Given the description of an element on the screen output the (x, y) to click on. 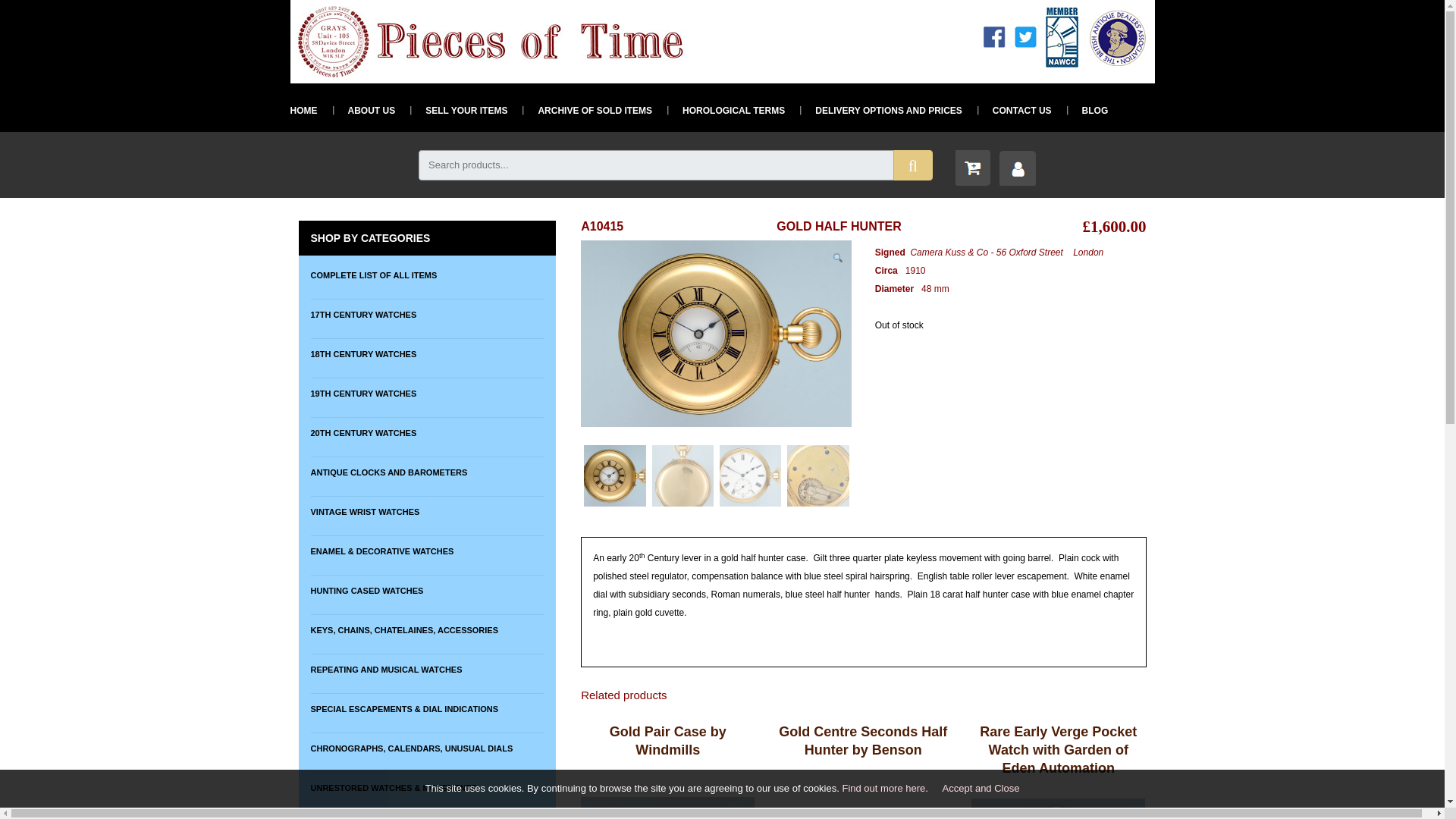
ABOUT US (362, 110)
17TH CENTURY WATCHES (427, 314)
BLOG (1087, 110)
COMPLETE LIST OF ALL ITEMS (427, 275)
19TH CENTURY WATCHES (427, 392)
20TH CENTURY WATCHES (427, 431)
w10820a (715, 333)
DELIVERY OPTIONS AND PRICES (880, 110)
SELL YOUR ITEMS (458, 110)
ARCHIVE OF SOLD ITEMS (587, 110)
HOME (303, 110)
ANTIQUE CLOCKS AND BAROMETERS (427, 471)
CONTACT US (1013, 110)
HOROLOGICAL TERMS (725, 110)
VINTAGE WRIST WATCHES (427, 511)
